Given the description of an element on the screen output the (x, y) to click on. 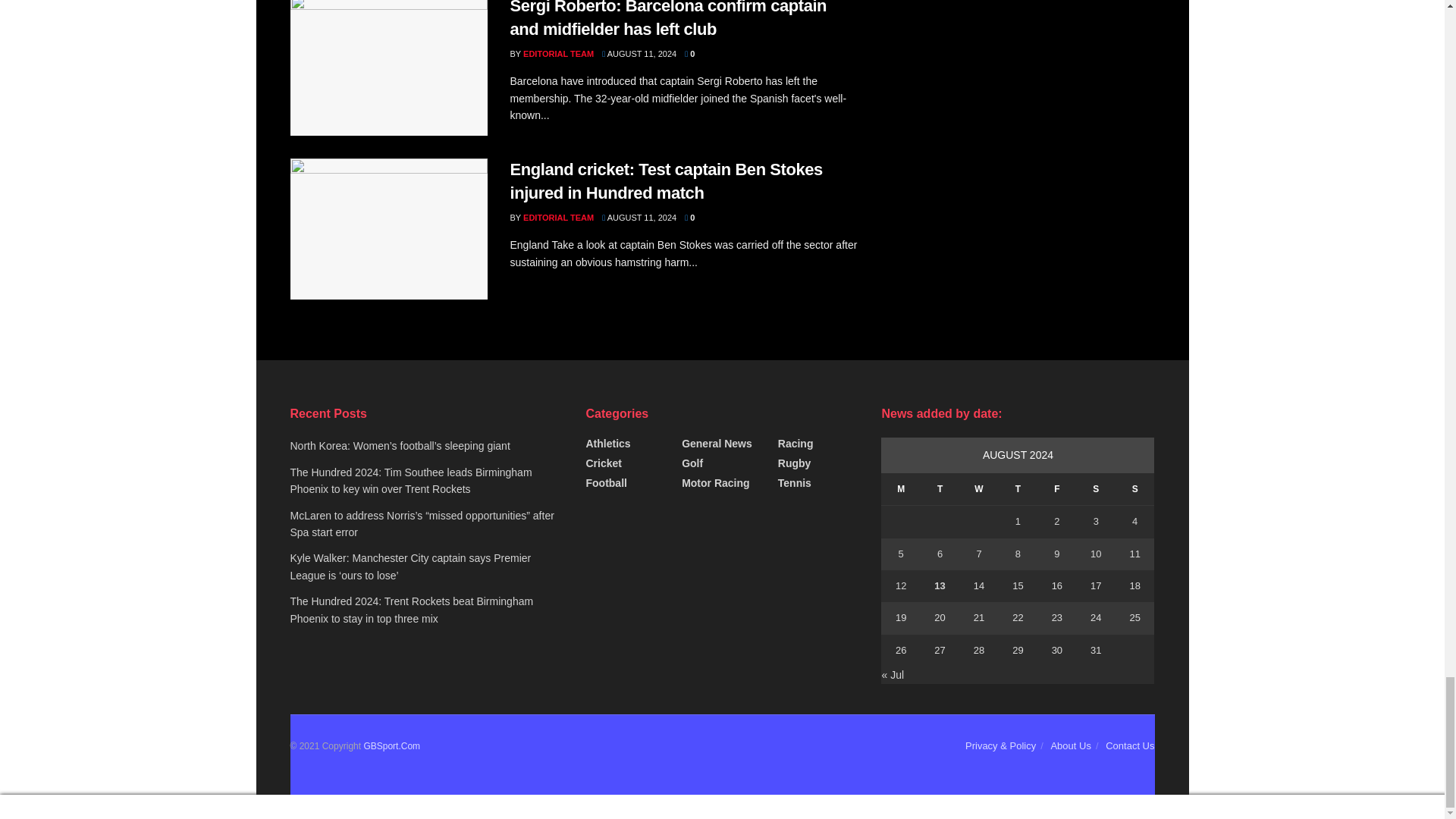
Wednesday (978, 489)
Tuesday (939, 489)
Thursday (1017, 489)
Friday (1055, 489)
Sunday (1134, 489)
Saturday (1096, 489)
Monday (900, 489)
